Given the description of an element on the screen output the (x, y) to click on. 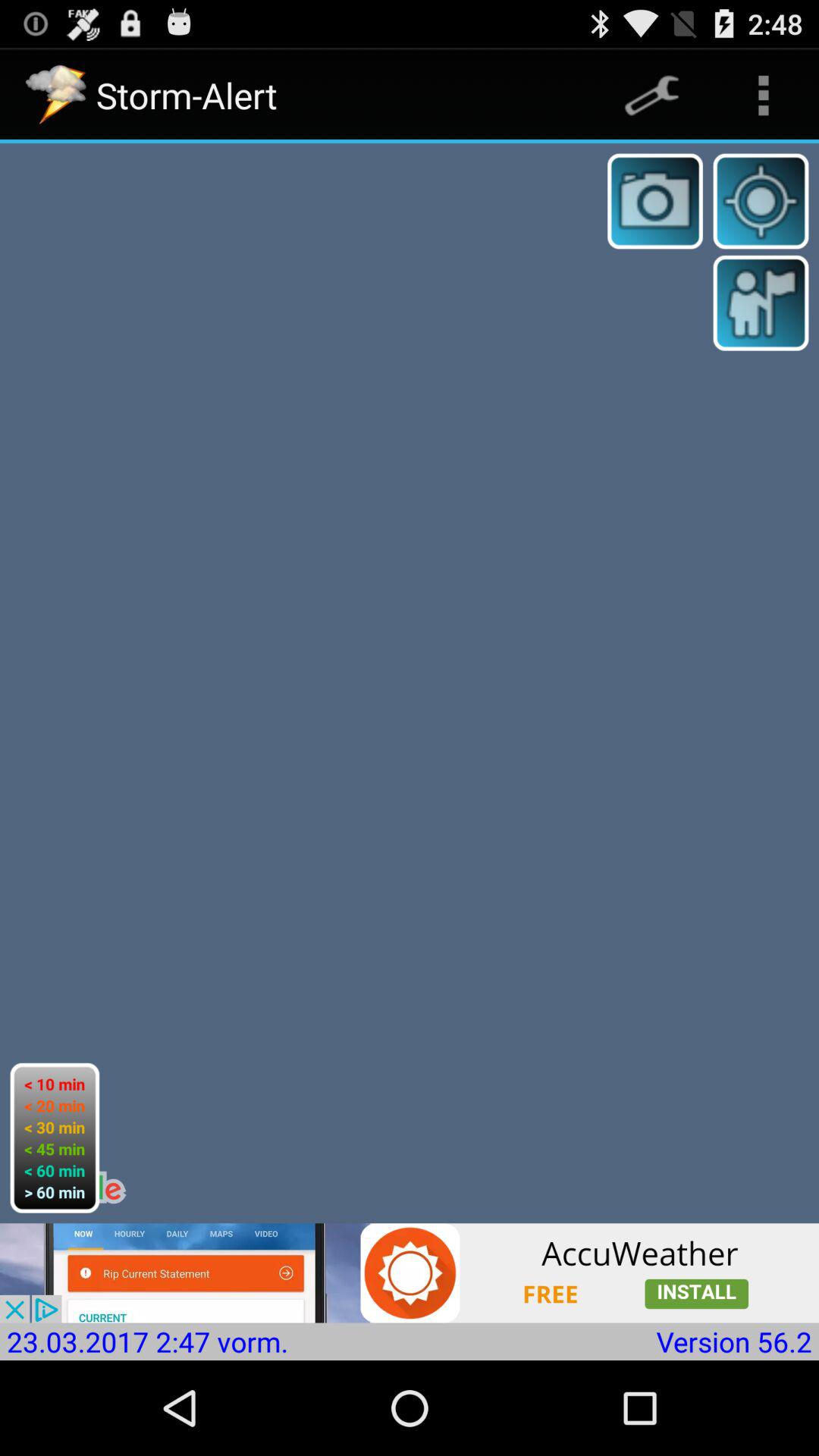
set to current location (760, 201)
